Given the description of an element on the screen output the (x, y) to click on. 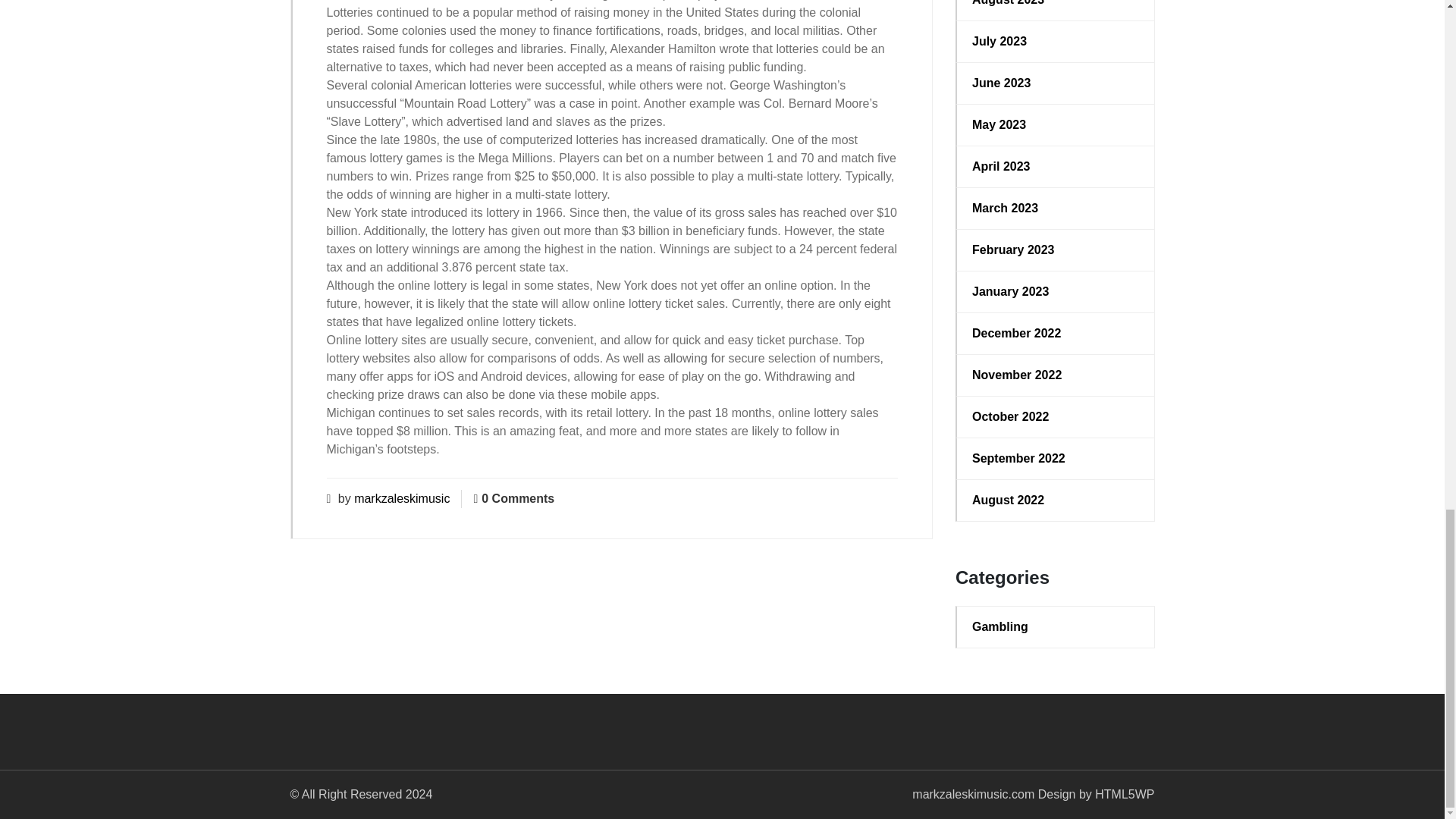
November 2022 (1055, 375)
May 2023 (1055, 125)
March 2023 (1055, 208)
August 2023 (1055, 4)
June 2023 (1055, 83)
April 2023 (1055, 167)
markzaleskimusic (401, 498)
February 2023 (1055, 249)
December 2022 (1055, 333)
July 2023 (1055, 41)
